Given the description of an element on the screen output the (x, y) to click on. 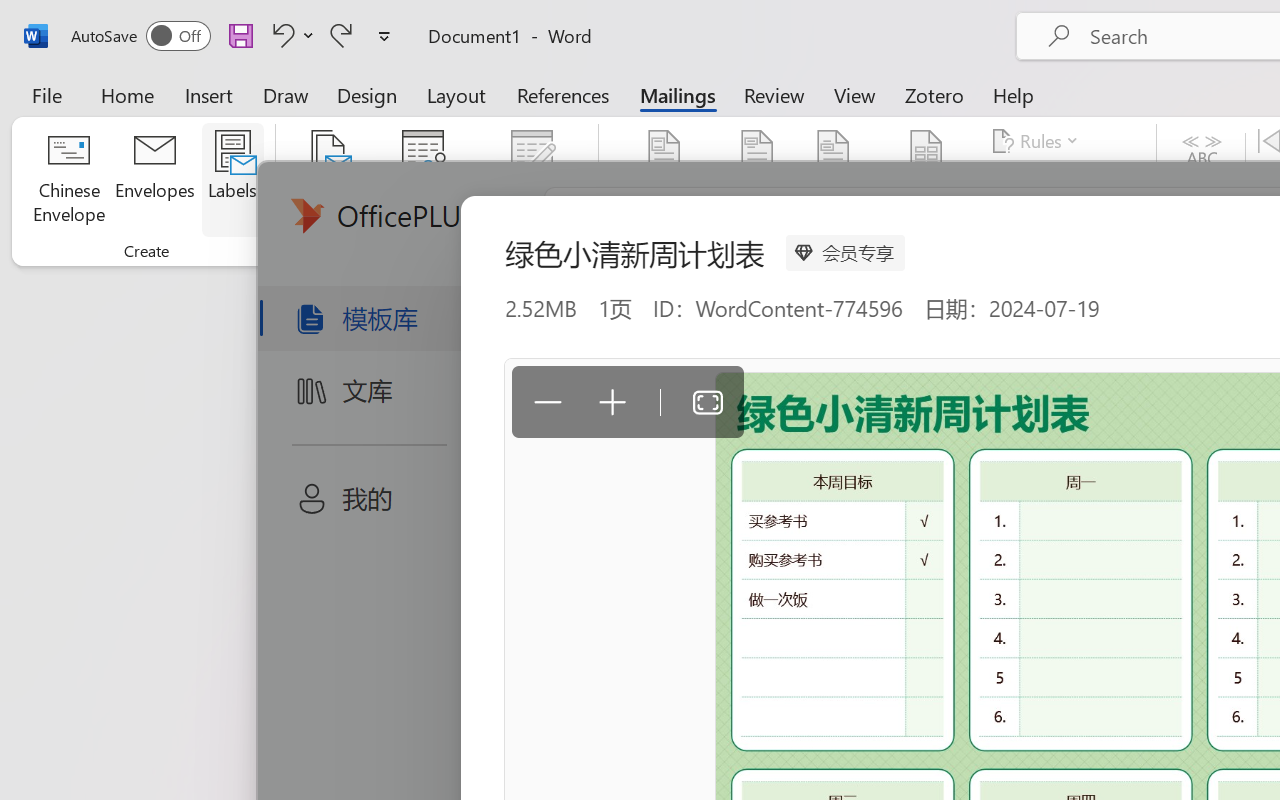
Insert Merge Field (927, 179)
Greeting Line... (833, 179)
Undo Apply Quick Style Set (280, 35)
Address Block... (757, 179)
Match Fields... (1057, 179)
